Given the description of an element on the screen output the (x, y) to click on. 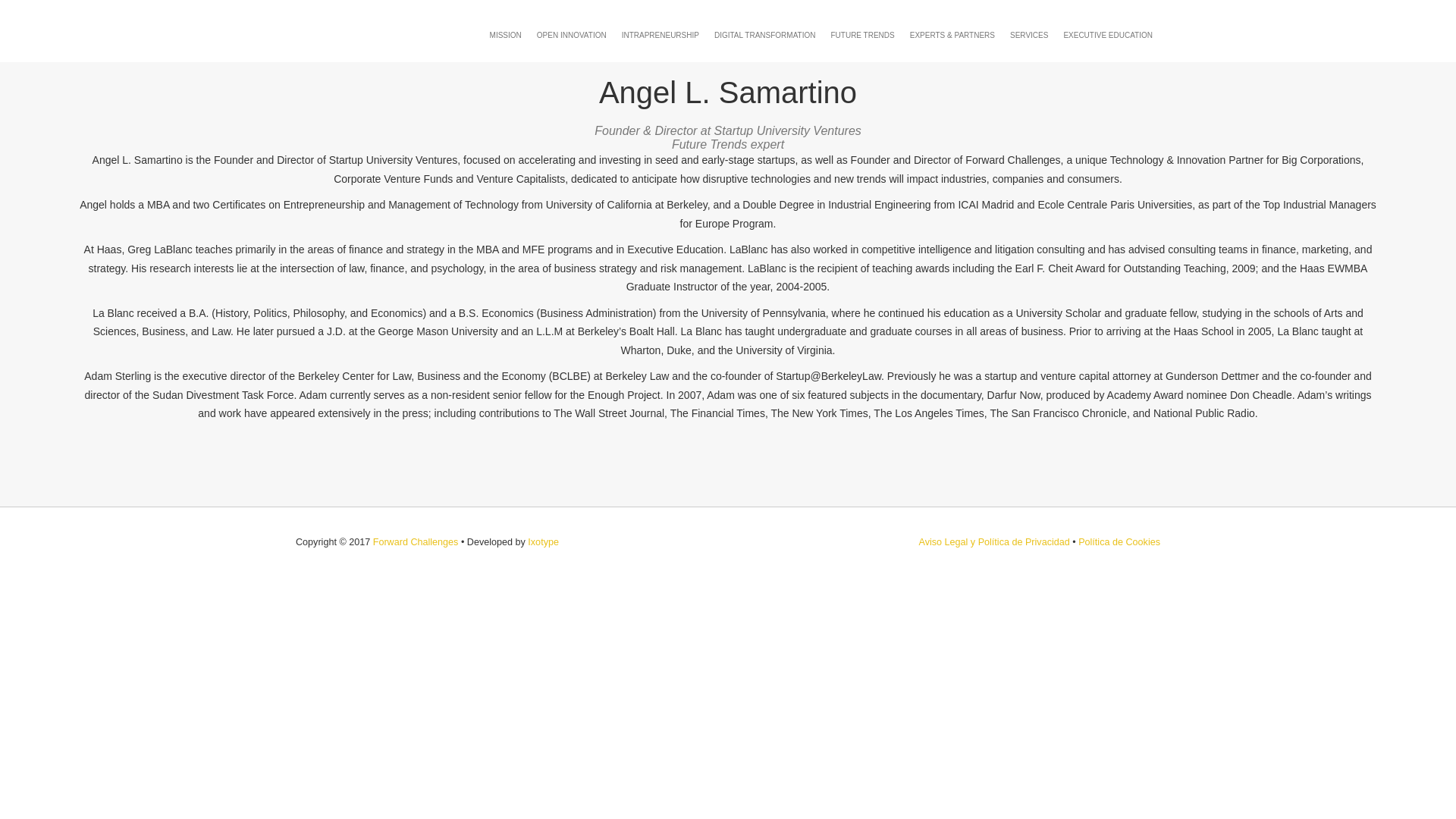
SERVICES (1029, 35)
OPEN INNOVATION (571, 35)
Forward Challenges (415, 542)
Ixotype (543, 542)
DIGITAL TRANSFORMATION (765, 35)
FUTURE TRENDS (861, 35)
EXECUTIVE EDUCATION (1107, 35)
MISSION (505, 35)
INTRAPRENEURSHIP (660, 35)
